Given the description of an element on the screen output the (x, y) to click on. 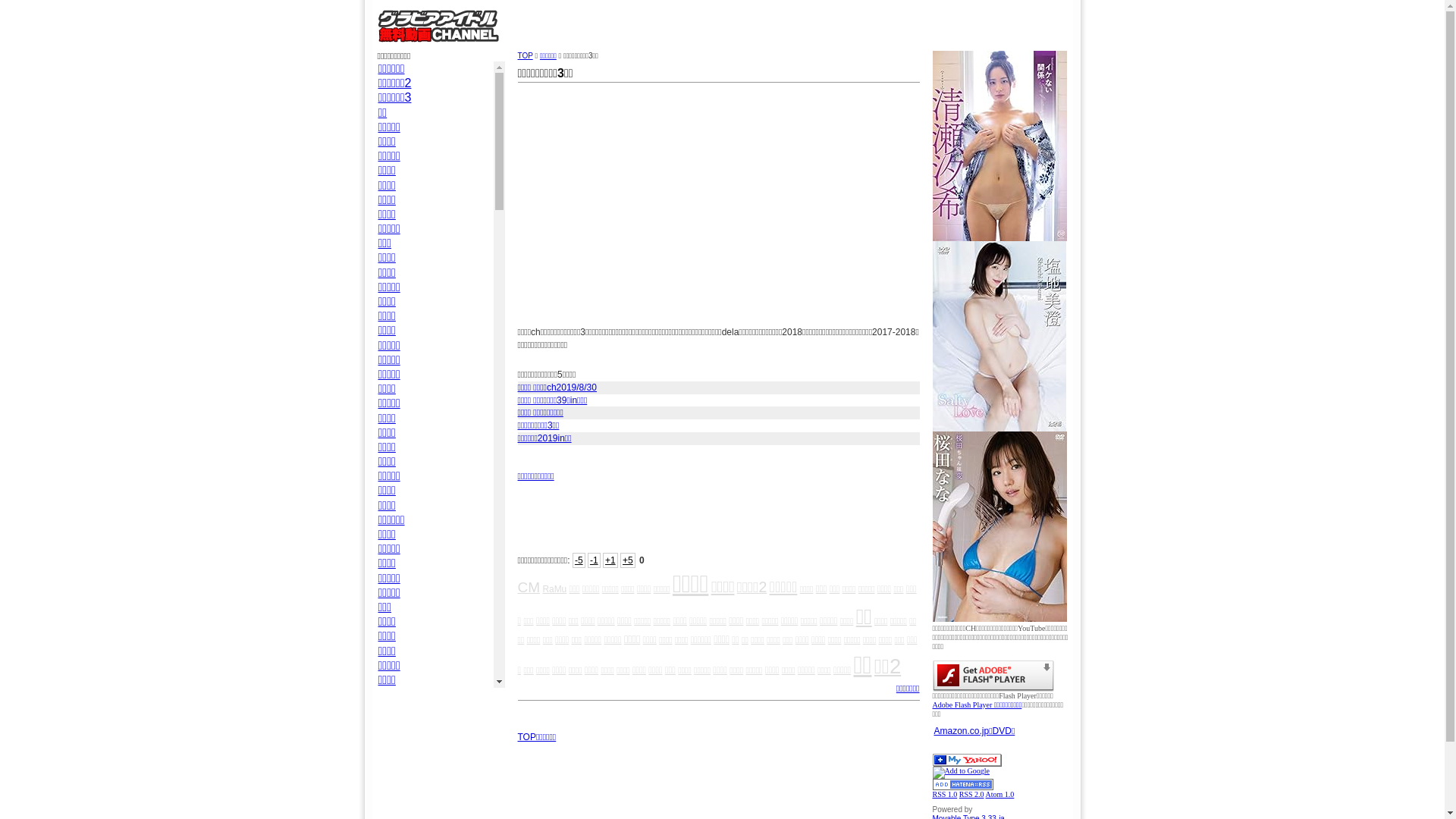
-1 Element type: text (593, 559)
CM Element type: text (528, 587)
KAORI Element type: text (396, 722)
RaMu Element type: text (554, 588)
RSS 2.0 Element type: text (971, 794)
RSS 1.0 Element type: text (944, 794)
Atom 1.0 Element type: text (999, 794)
TOP Element type: text (524, 55)
-5 Element type: text (578, 559)
+1 Element type: text (610, 559)
+5 Element type: text (627, 559)
